Given the description of an element on the screen output the (x, y) to click on. 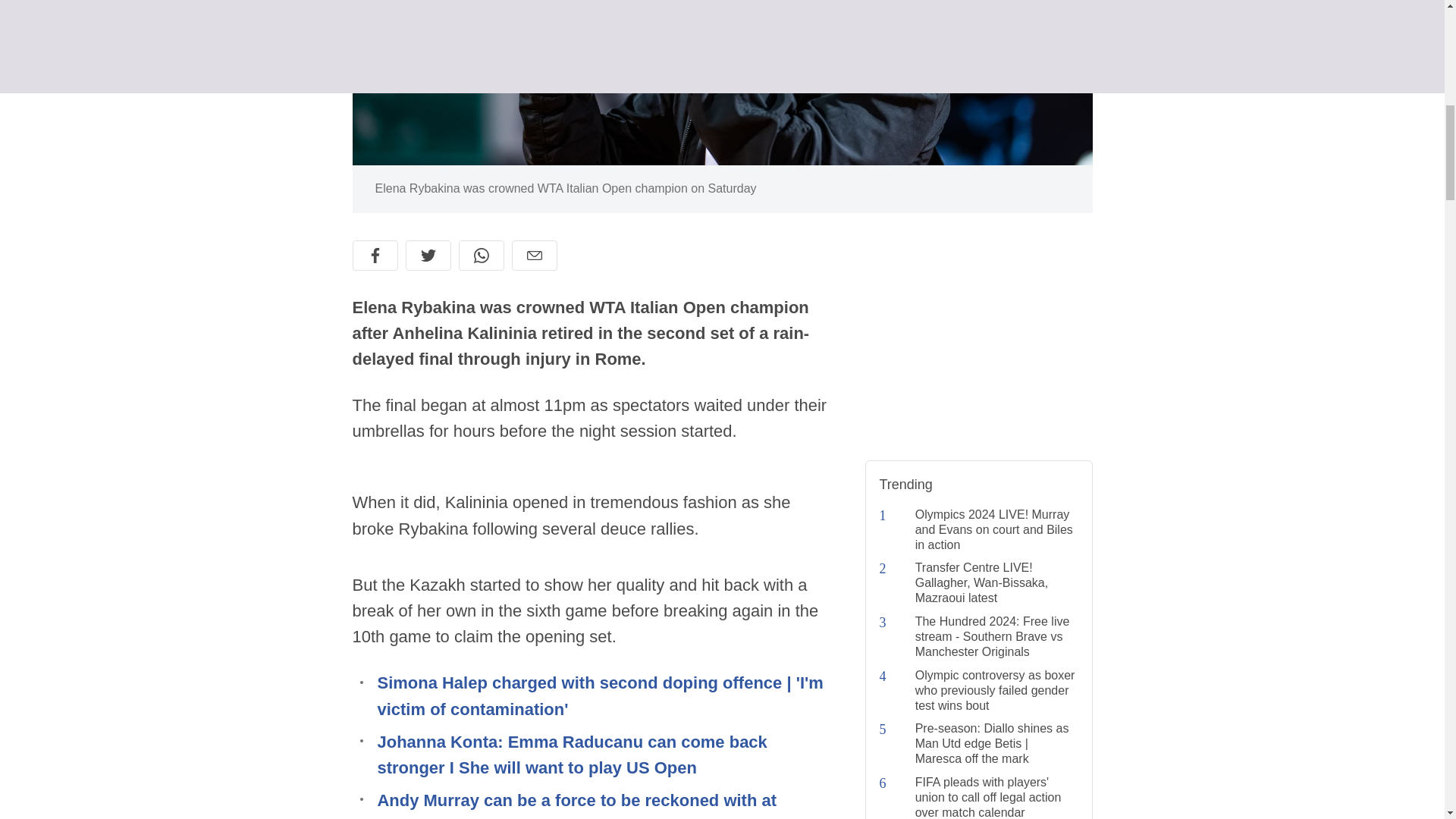
Share by email (533, 255)
Share on Facebook (374, 255)
Share on Twitter (426, 255)
Share on WhatsApp (480, 255)
